Given the description of an element on the screen output the (x, y) to click on. 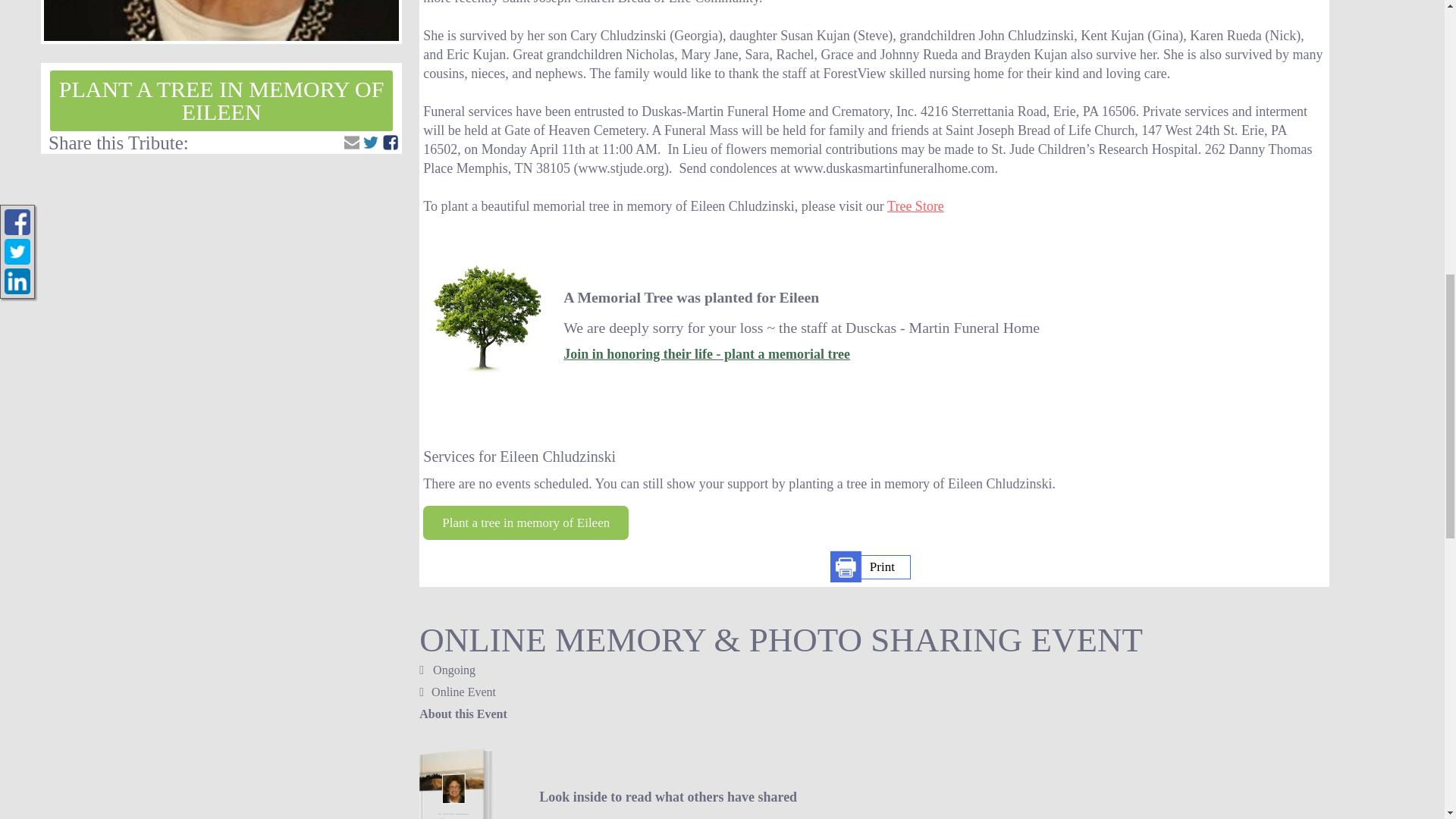
Print (871, 567)
Receive Notifications (351, 142)
Plant A Tree (221, 100)
Twitter (370, 142)
Facebook (389, 142)
